Given the description of an element on the screen output the (x, y) to click on. 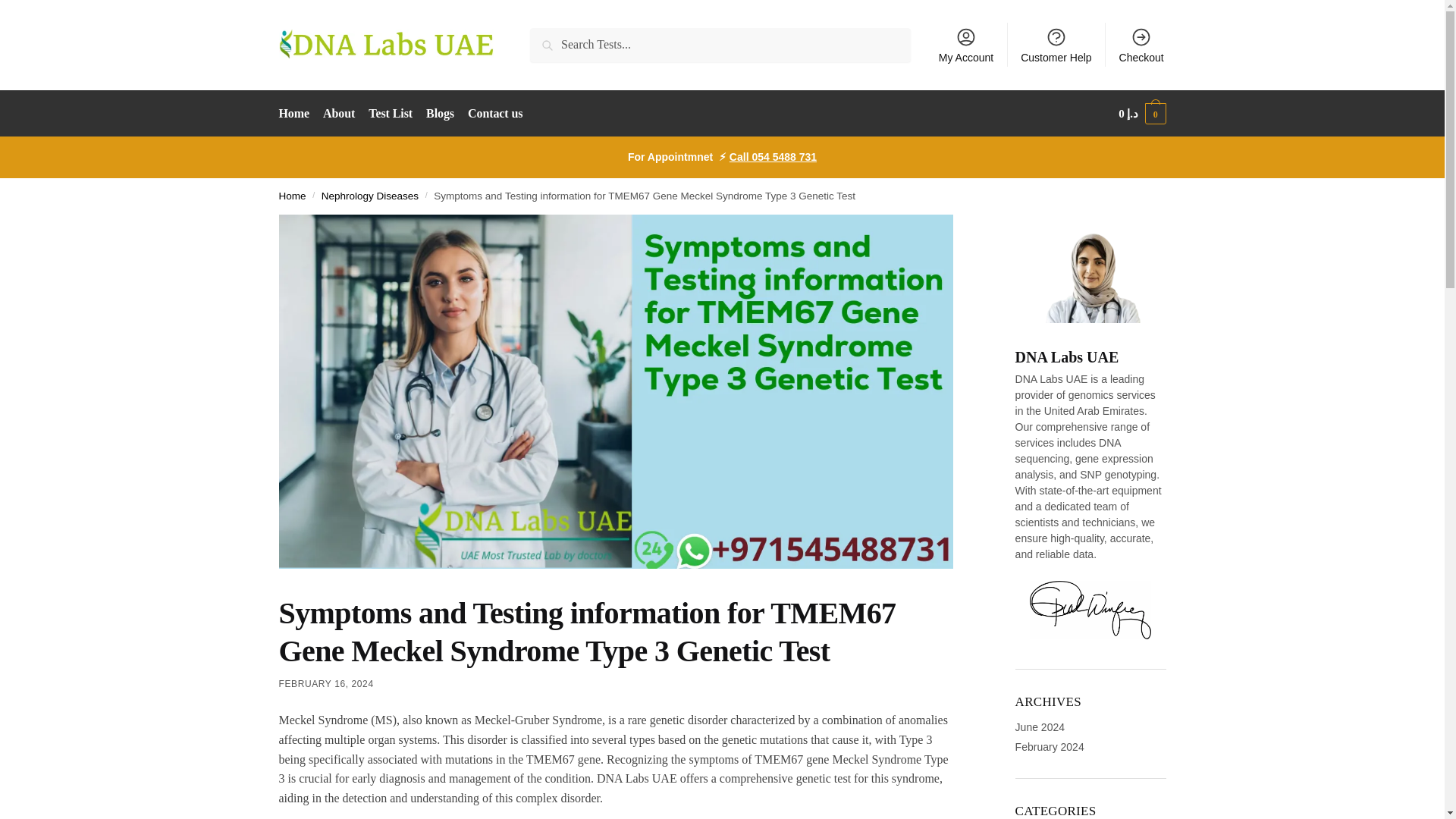
Contact us (495, 113)
February 2024 (1049, 746)
View your shopping cart (1142, 113)
Test List (390, 113)
Customer Help (1055, 44)
Home (292, 195)
About (338, 113)
Search (550, 38)
My Account (966, 44)
June 2024 (1039, 727)
Nephrology Diseases (370, 195)
Call 054 5488 731 (772, 156)
Blogs (439, 113)
Checkout (1141, 44)
